Given the description of an element on the screen output the (x, y) to click on. 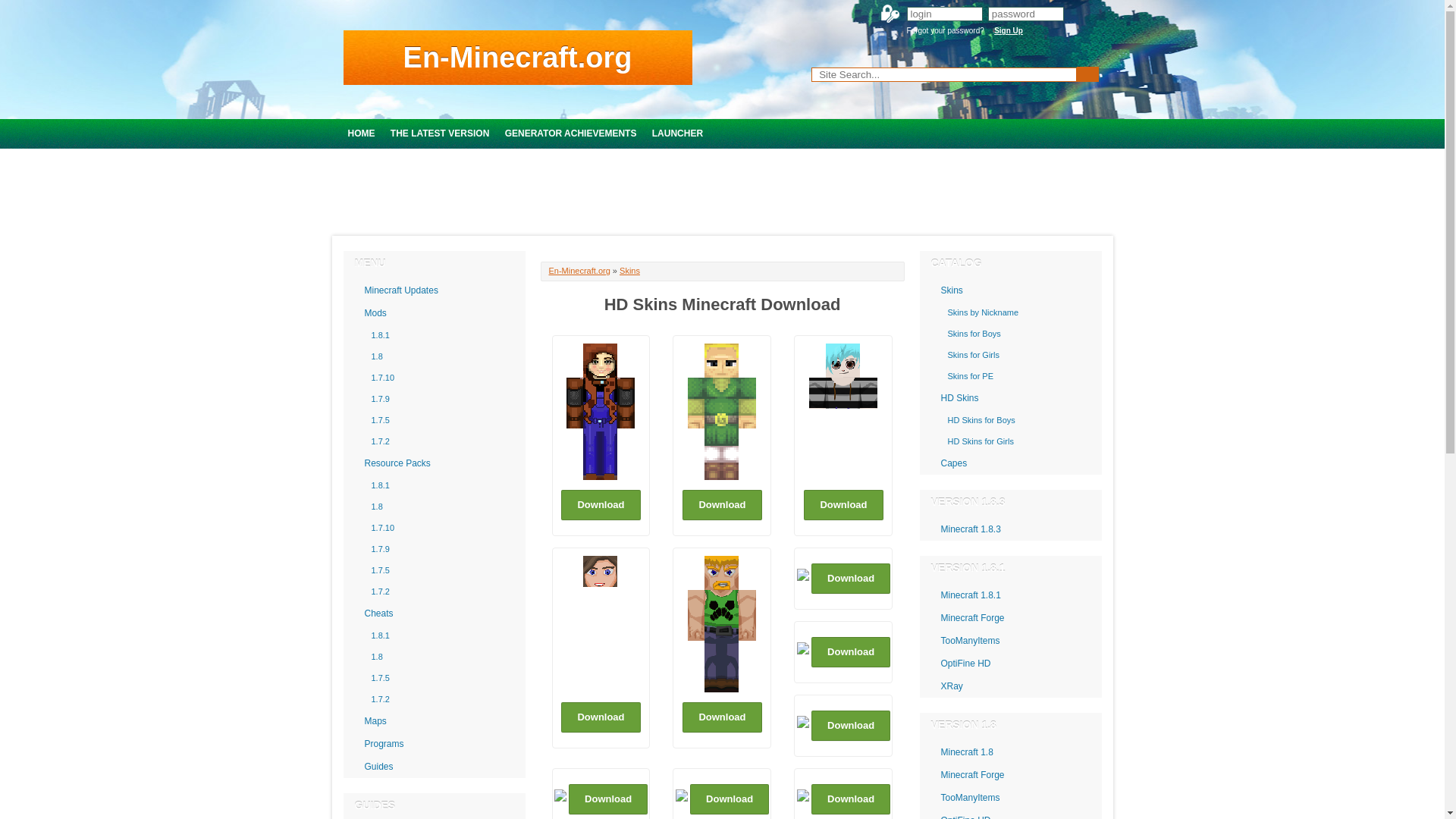
Download (849, 578)
Minecraft Updates (433, 290)
Minecraft Cheats (433, 612)
Minecraft 1.7.2 Resource Packs (433, 590)
Skins (630, 270)
Login (1080, 13)
Download (842, 504)
Forgot your password? (945, 30)
En-Minecraft.org (579, 270)
Download (721, 504)
Download (729, 798)
Login (1080, 13)
Minecraft 1.8.1 Mods (433, 334)
Download (849, 798)
Minecraft Resource Packs (433, 463)
